Given the description of an element on the screen output the (x, y) to click on. 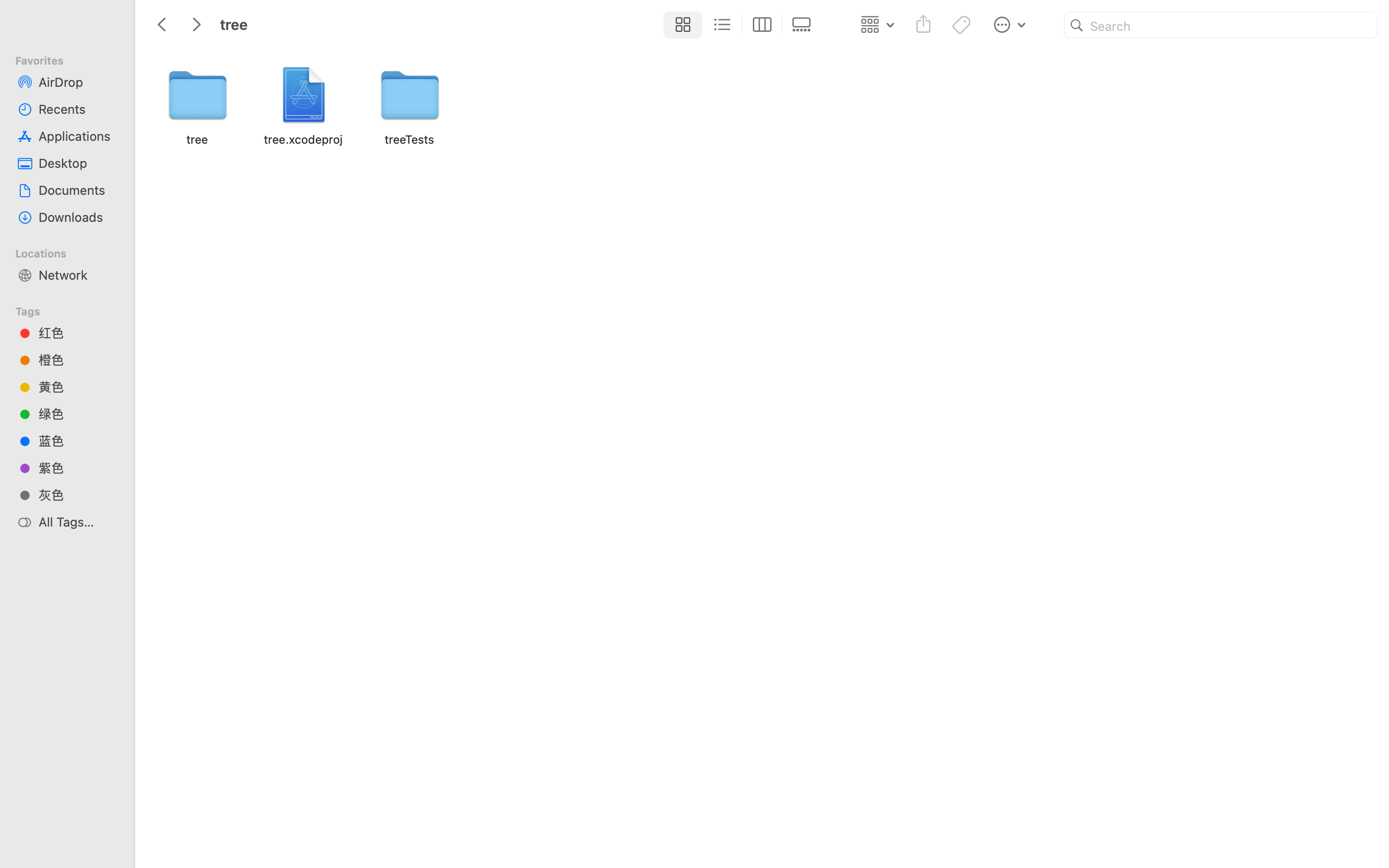
Locations Element type: AXStaticText (72, 252)
黄色 Element type: AXStaticText (77, 386)
红色 Element type: AXStaticText (77, 332)
Applications Element type: AXStaticText (77, 135)
蓝色 Element type: AXStaticText (77, 440)
